Given the description of an element on the screen output the (x, y) to click on. 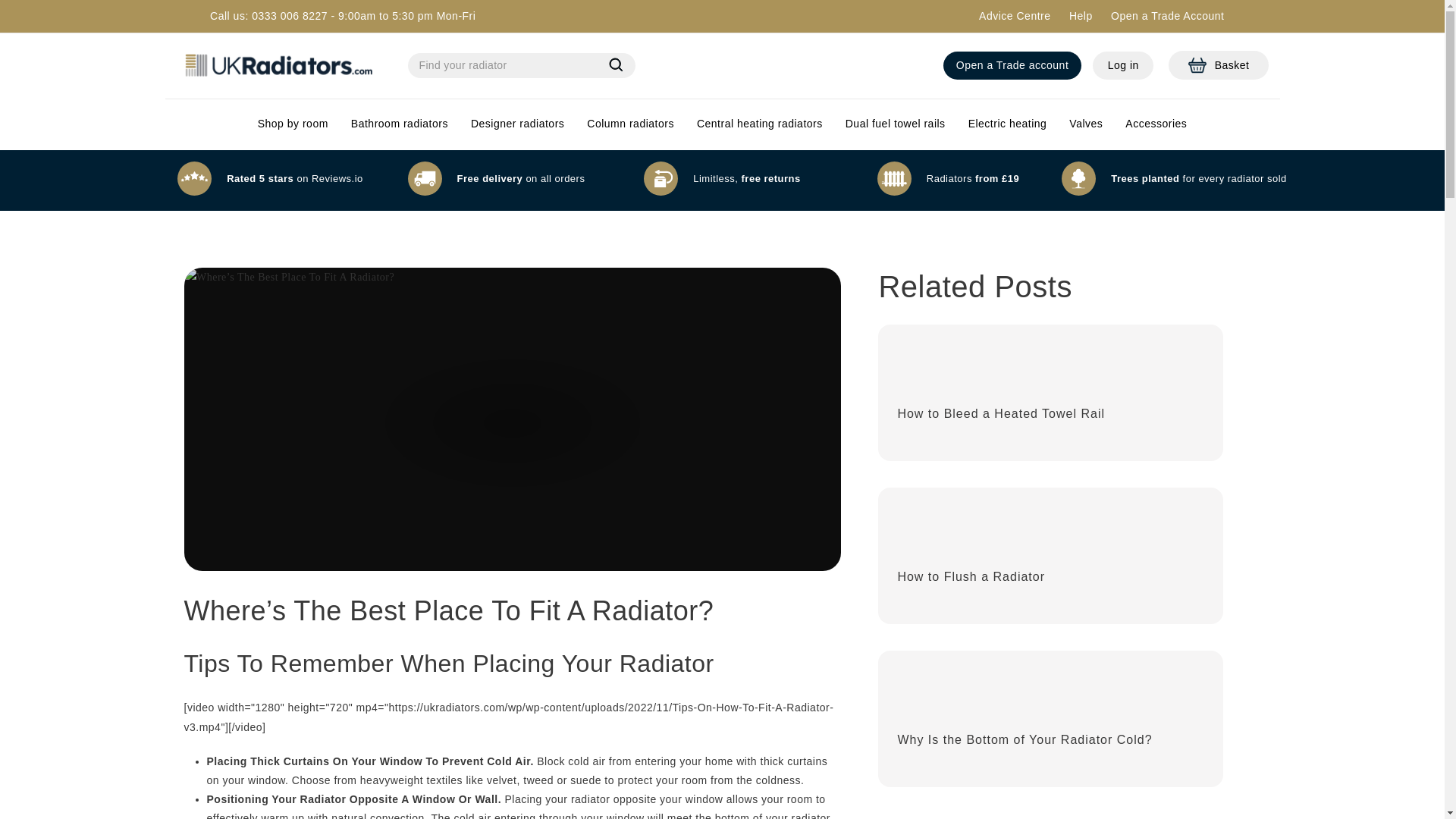
Electric heating (1007, 123)
Accessories (1155, 123)
Designer radiators (517, 123)
Help (1012, 65)
Search (1080, 15)
Bathroom radiators (615, 66)
Open a Trade Account (399, 123)
Advice Centre (1218, 65)
